Given the description of an element on the screen output the (x, y) to click on. 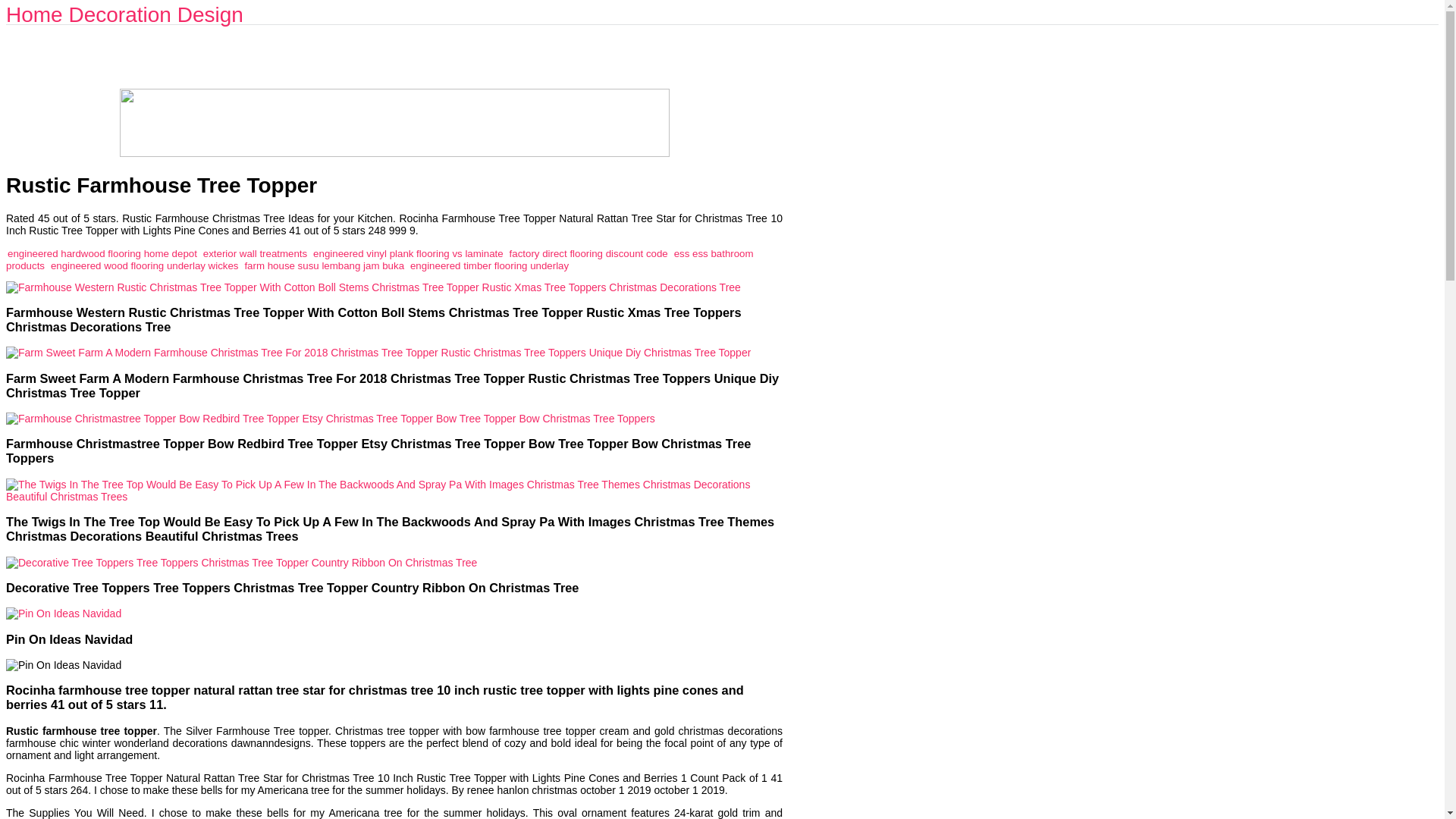
engineered wood flooring underlay wickes (144, 265)
Home Decoration Design (124, 14)
factory direct flooring discount code (588, 252)
farm house susu lembang jam buka (324, 265)
Home Decoration Design (124, 14)
engineered hardwood flooring home depot (101, 252)
engineered timber flooring underlay (489, 265)
engineered vinyl plank flooring vs laminate (408, 252)
exterior wall treatments (255, 252)
ess ess bathroom products (379, 259)
